Given the description of an element on the screen output the (x, y) to click on. 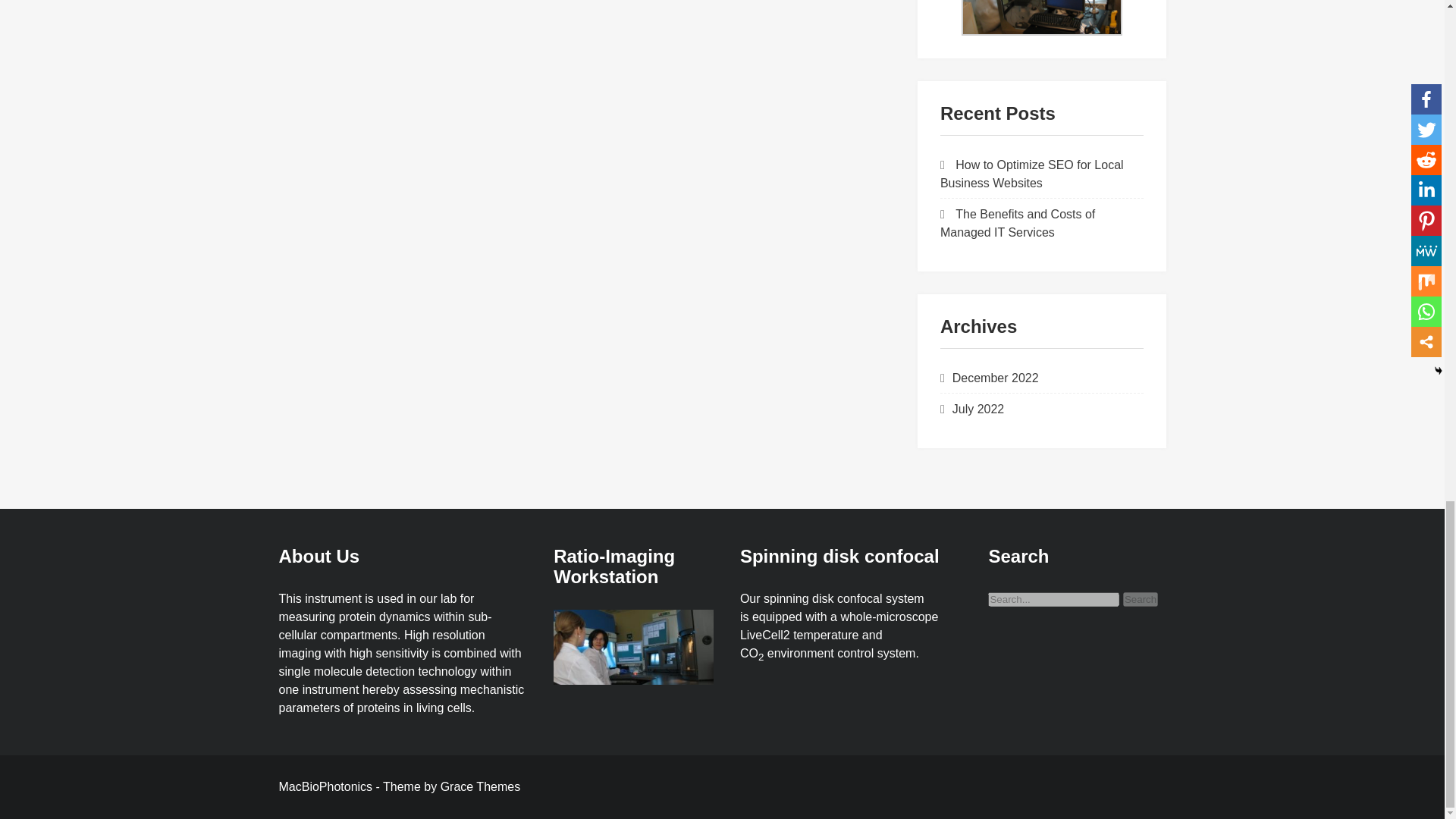
July 2022 (978, 408)
The Benefits and Costs of Managed IT Services (1017, 223)
Search (1139, 599)
Search (1139, 599)
December 2022 (995, 377)
How to Optimize SEO for Local Business Websites (1032, 173)
Search (1139, 599)
